Given the description of an element on the screen output the (x, y) to click on. 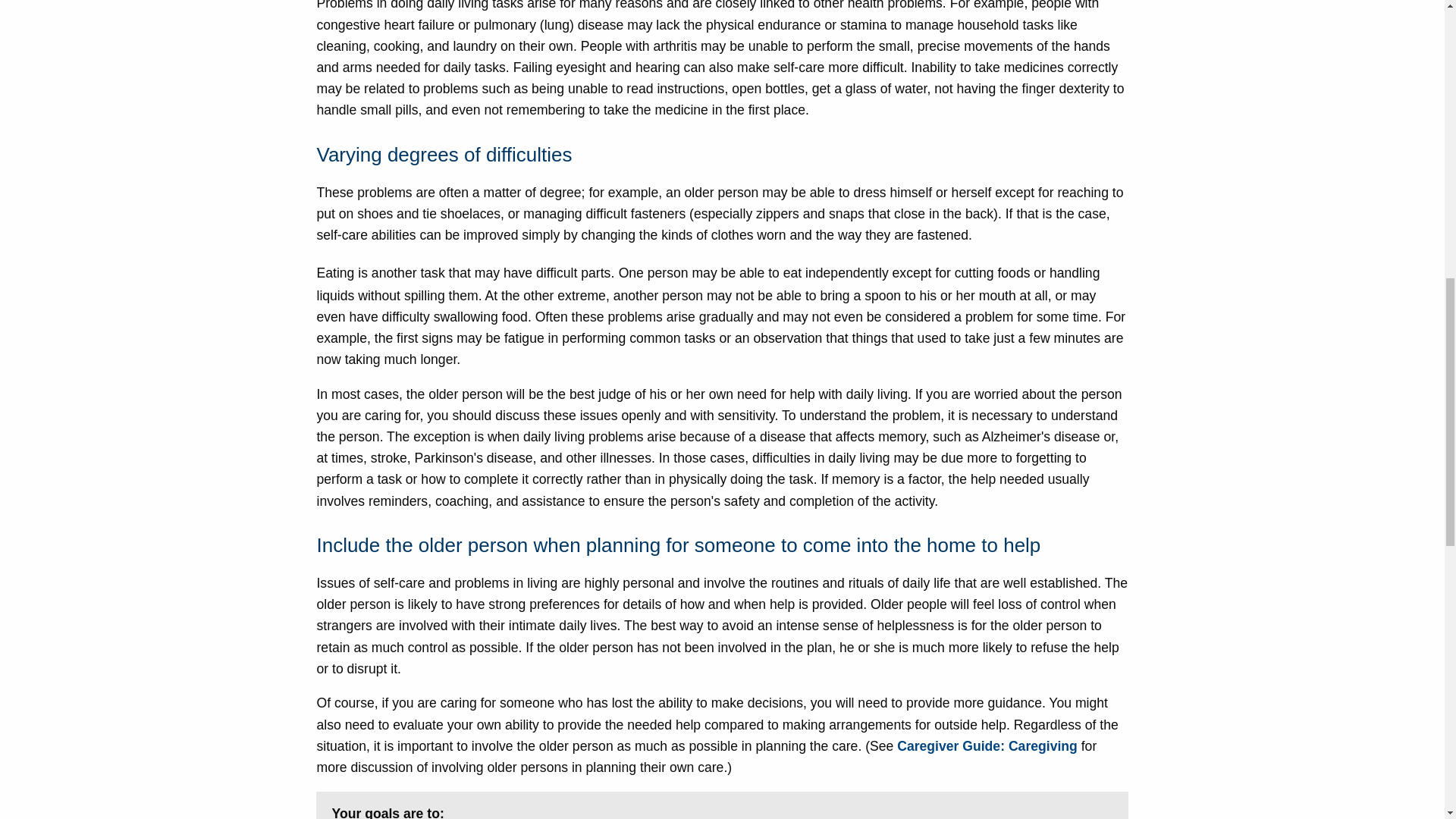
Caregiver Guide: Caregiving (986, 745)
